Given the description of an element on the screen output the (x, y) to click on. 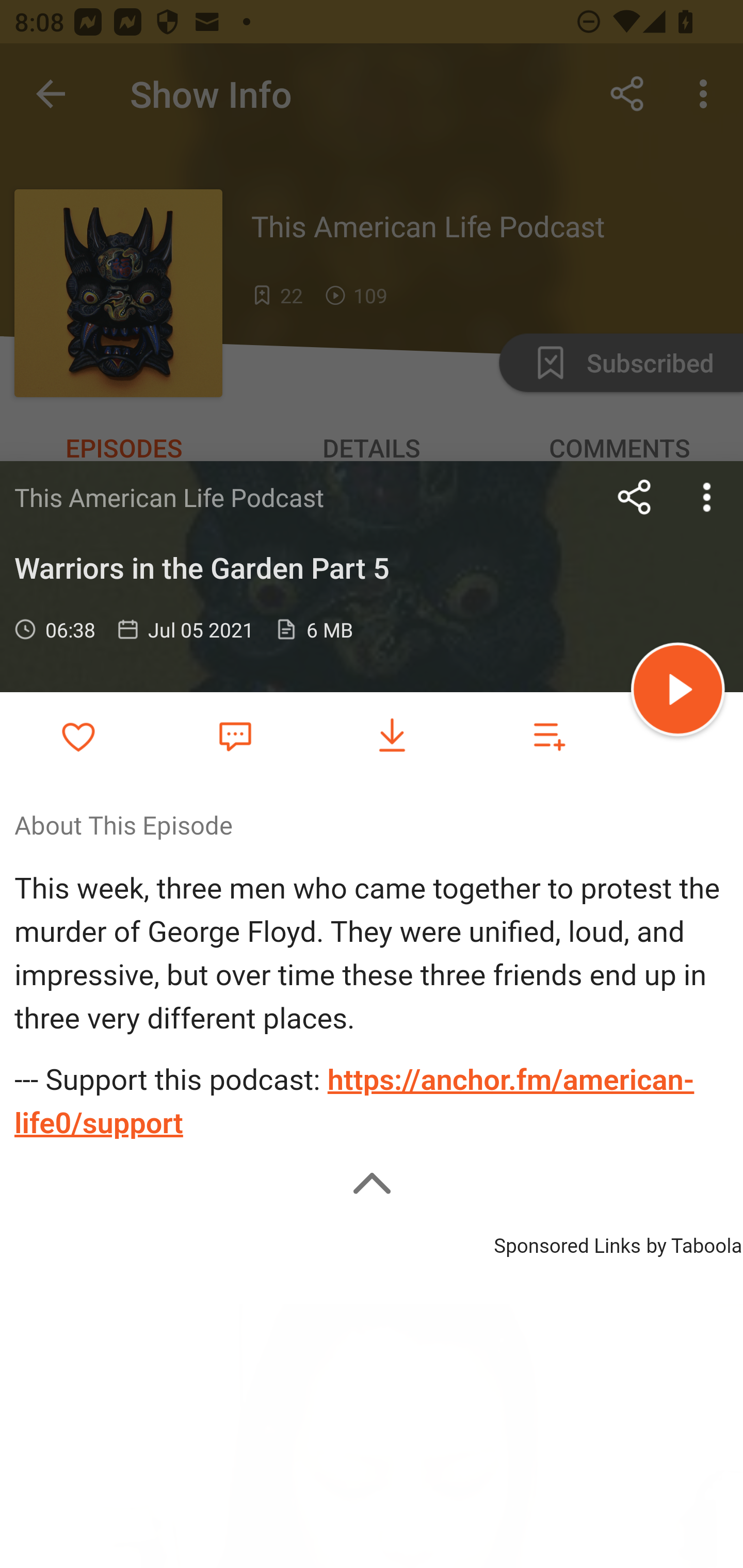
Share (634, 496)
more options (706, 496)
Play (677, 692)
Favorite (234, 735)
Add to Favorites (78, 735)
Download (391, 735)
Add to playlist (548, 735)
https://anchor.fm/american-life0/support (354, 1101)
Sponsored Links (566, 1243)
by Taboola (693, 1243)
